Given the description of an element on the screen output the (x, y) to click on. 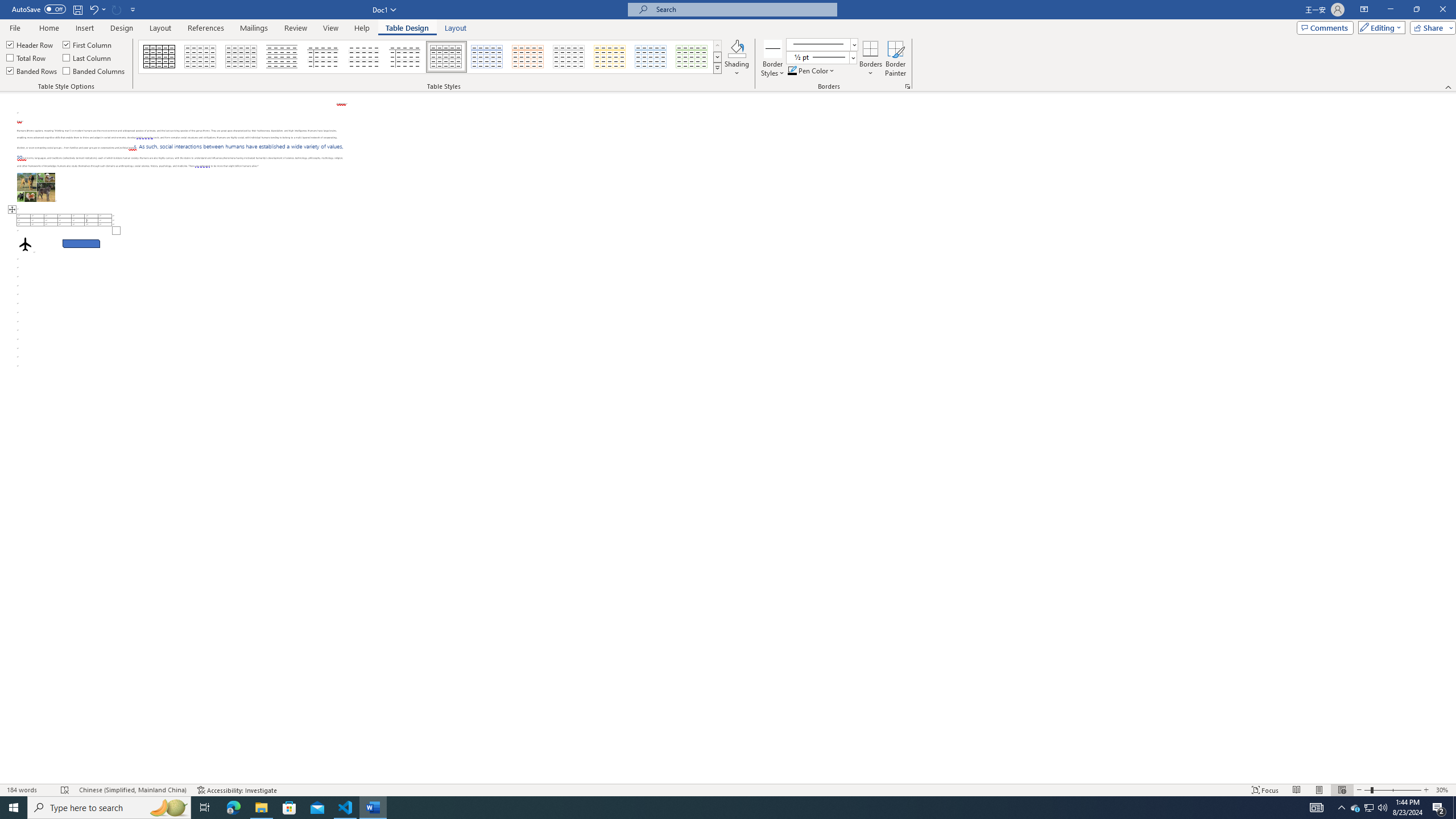
Word Count 184 words (28, 790)
Airplane with solid fill (25, 243)
Table Design (407, 28)
Editing (1379, 27)
Banded Columns (94, 69)
Microsoft search (742, 9)
Rectangle: Diagonal Corners Snipped 2 (81, 243)
Plain Table 5 (405, 56)
Grid Table 1 Light - Accent 1 (487, 56)
Undo Row Height Spinner (92, 9)
Borders and Shading... (907, 85)
Spelling and Grammar Check Errors (65, 790)
